Given the description of an element on the screen output the (x, y) to click on. 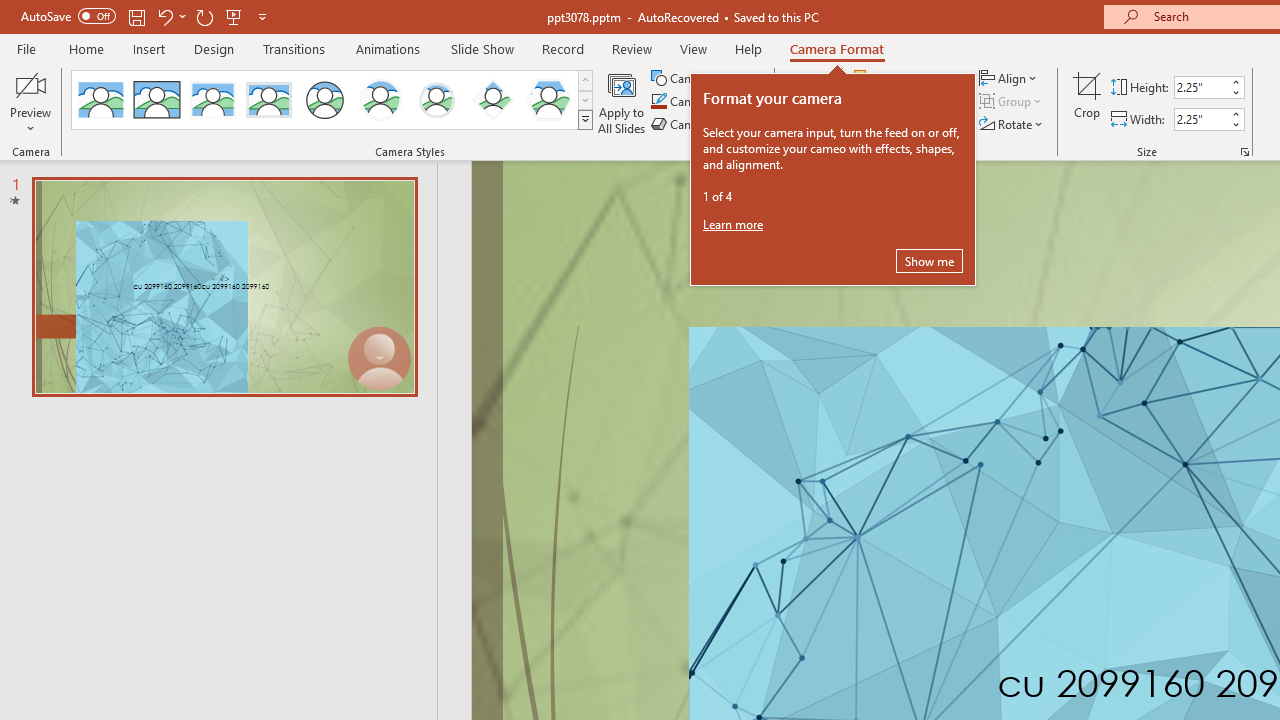
Center Shadow Rectangle (212, 100)
Simple Frame Circle (324, 100)
Align (1009, 78)
Cameo Height (1201, 87)
